Given the description of an element on the screen output the (x, y) to click on. 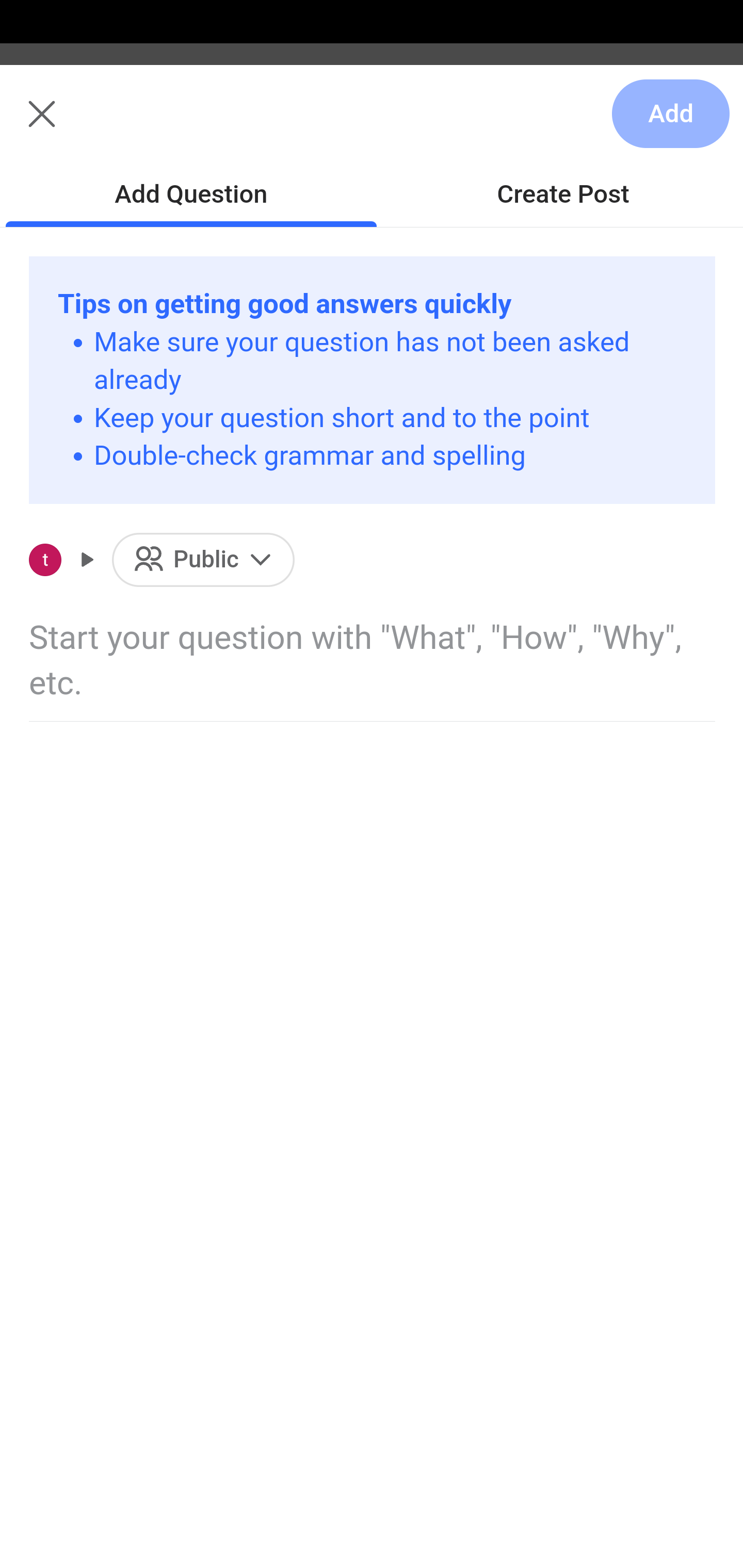
Me Home Search Add (371, 125)
Me (64, 125)
